Given the description of an element on the screen output the (x, y) to click on. 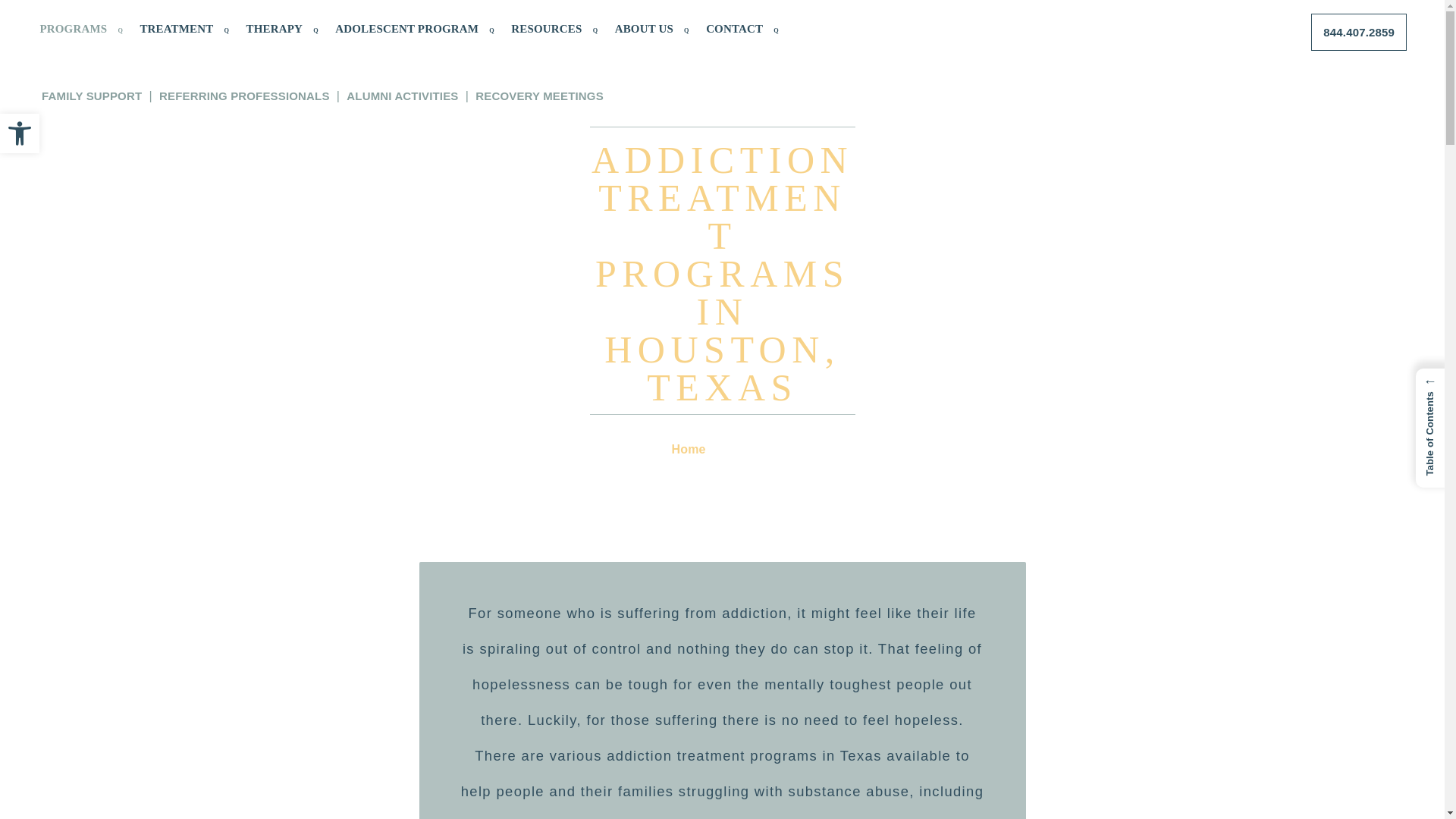
FAMILY SUPPORT (91, 95)
Accessibility Tools (19, 133)
844.407.2859 (1358, 31)
TREATMENT (183, 28)
RECOVERY MEETINGS (540, 95)
THERAPY (280, 28)
REFERRING PROFESSIONALS (244, 95)
ALUMNI ACTIVITIES (402, 95)
PROGRAMS (80, 28)
ADOLESCENT PROGRAM (414, 28)
